Given the description of an element on the screen output the (x, y) to click on. 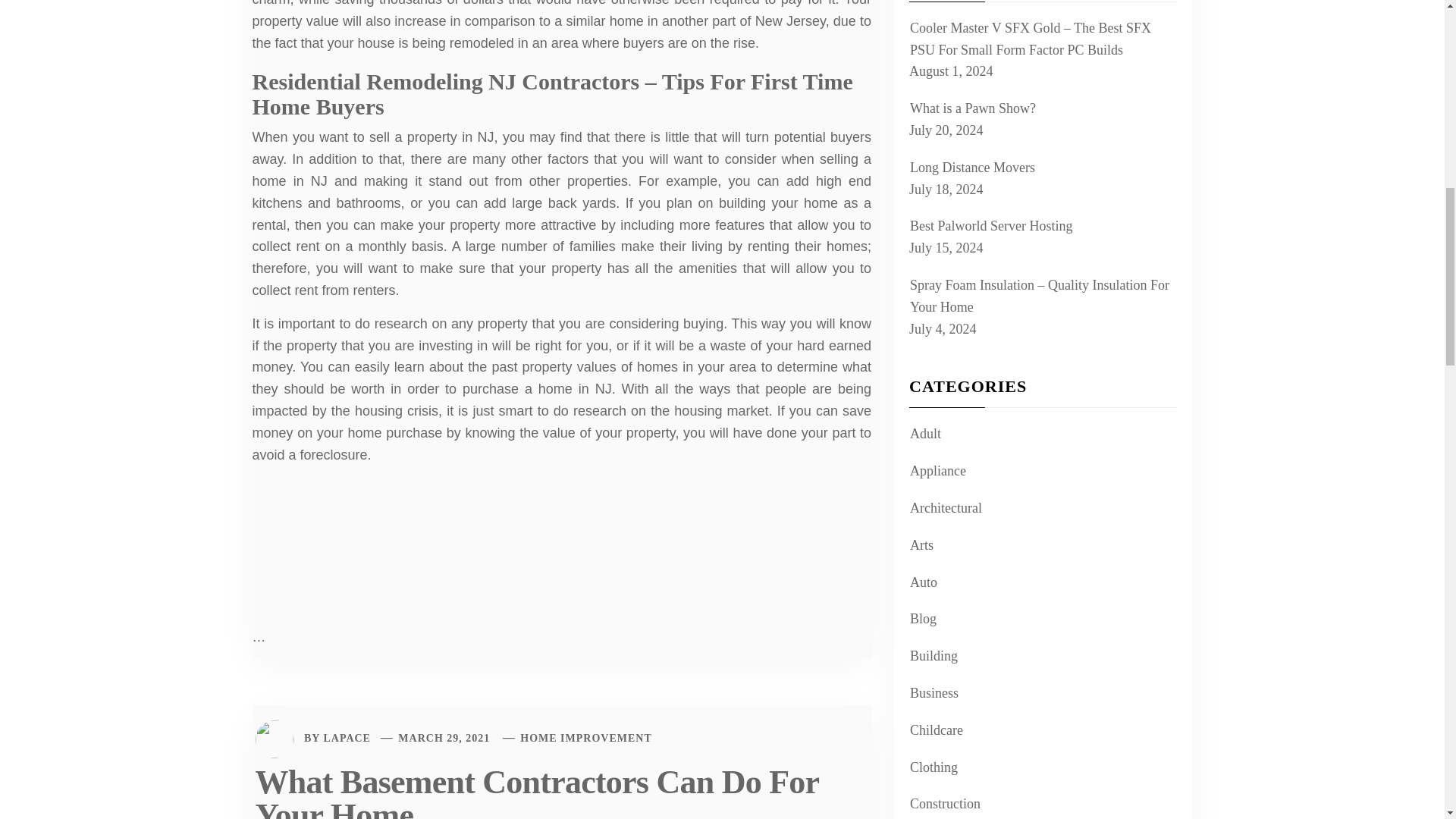
Auto (921, 582)
LAPACE (347, 737)
Long Distance Movers (970, 168)
Blog (920, 618)
What Basement Contractors Can Do For Your Home (536, 791)
Building (931, 656)
Arts (919, 545)
MARCH 29, 2021 (443, 737)
What is a Pawn Show? (970, 108)
Appliance (935, 471)
